Given the description of an element on the screen output the (x, y) to click on. 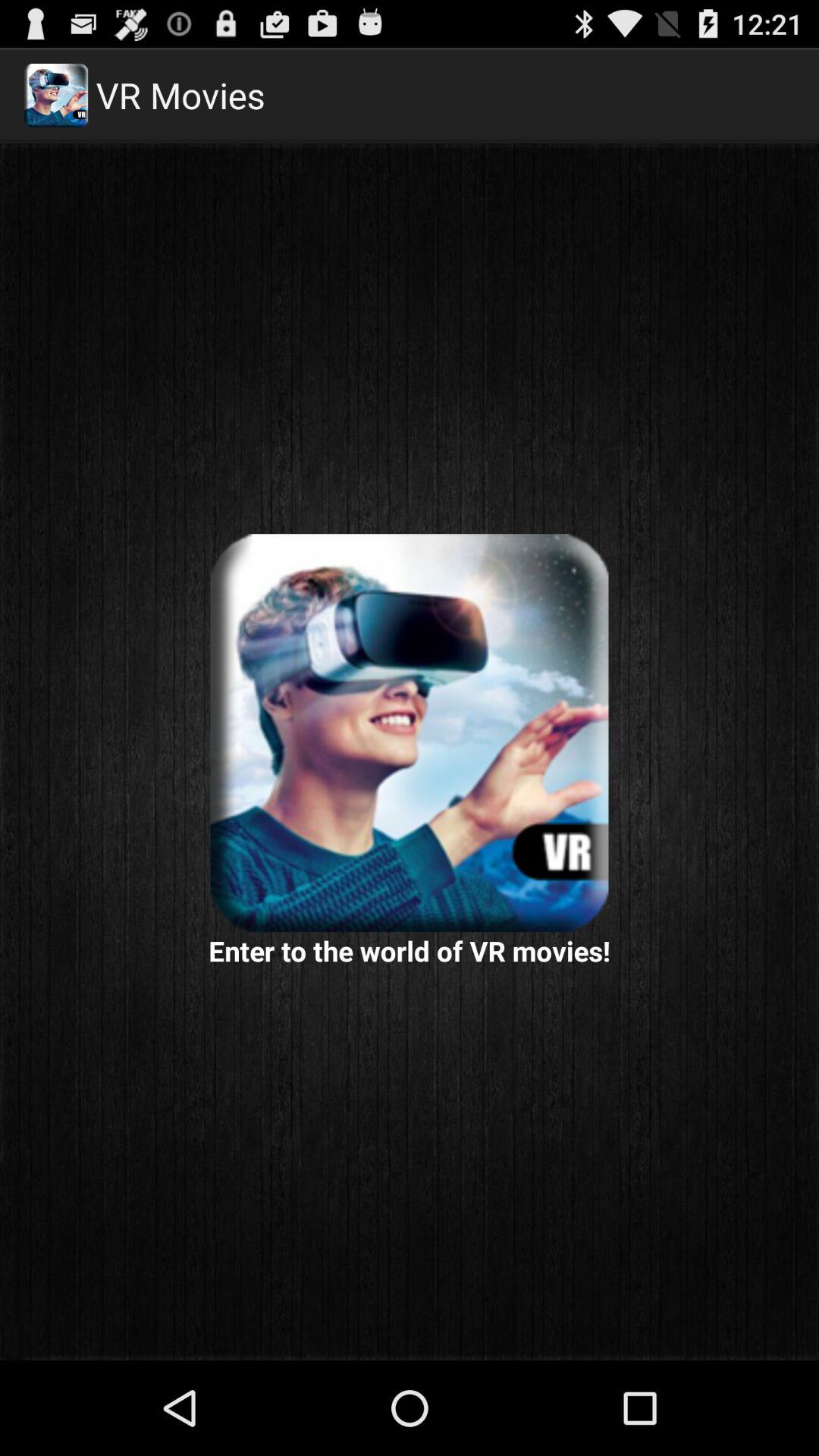
turn on item below vr movies icon (409, 733)
